Given the description of an element on the screen output the (x, y) to click on. 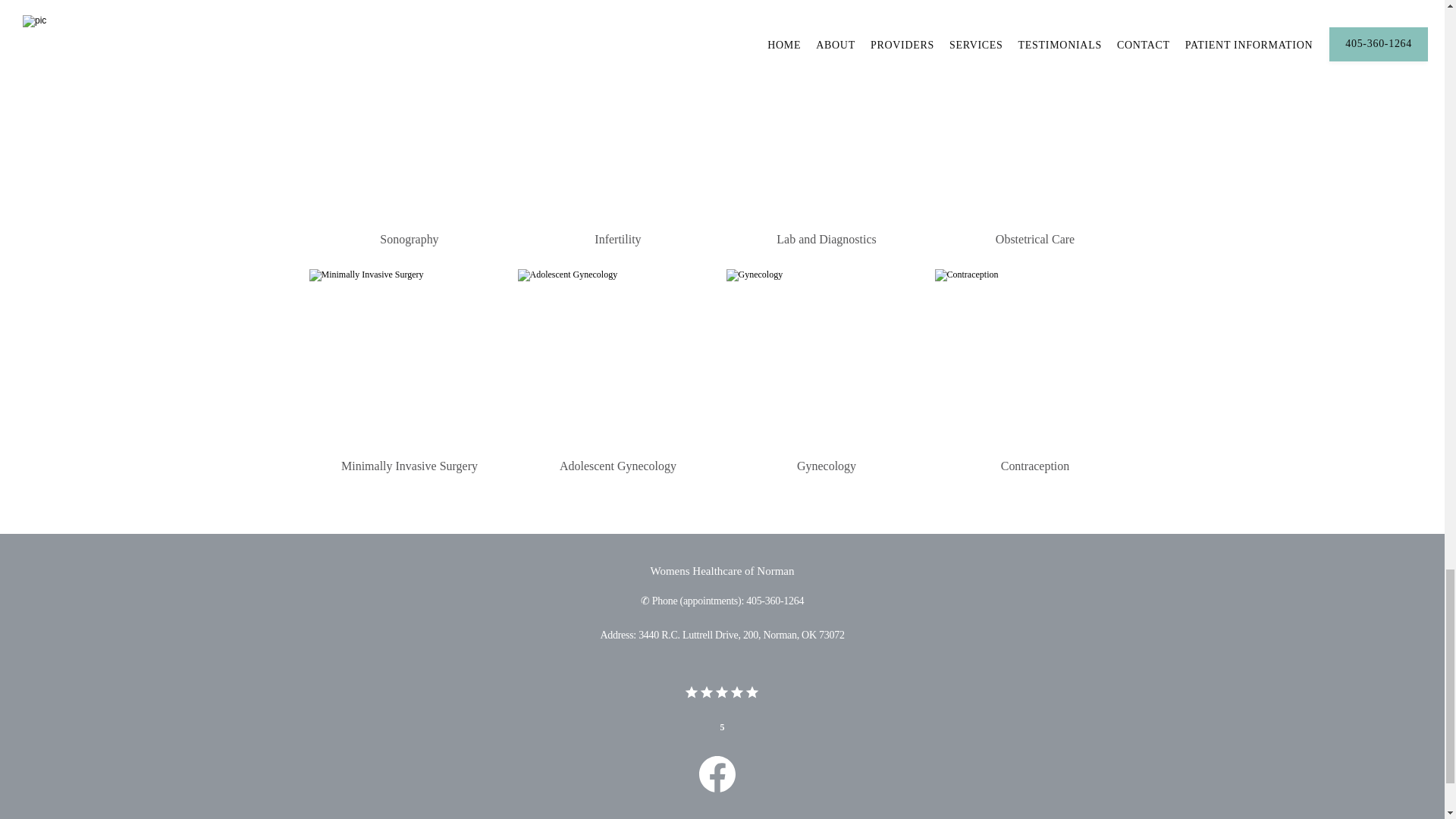
Lab and Diagnostics (826, 238)
Sonography (409, 238)
Infertility (617, 238)
